Given the description of an element on the screen output the (x, y) to click on. 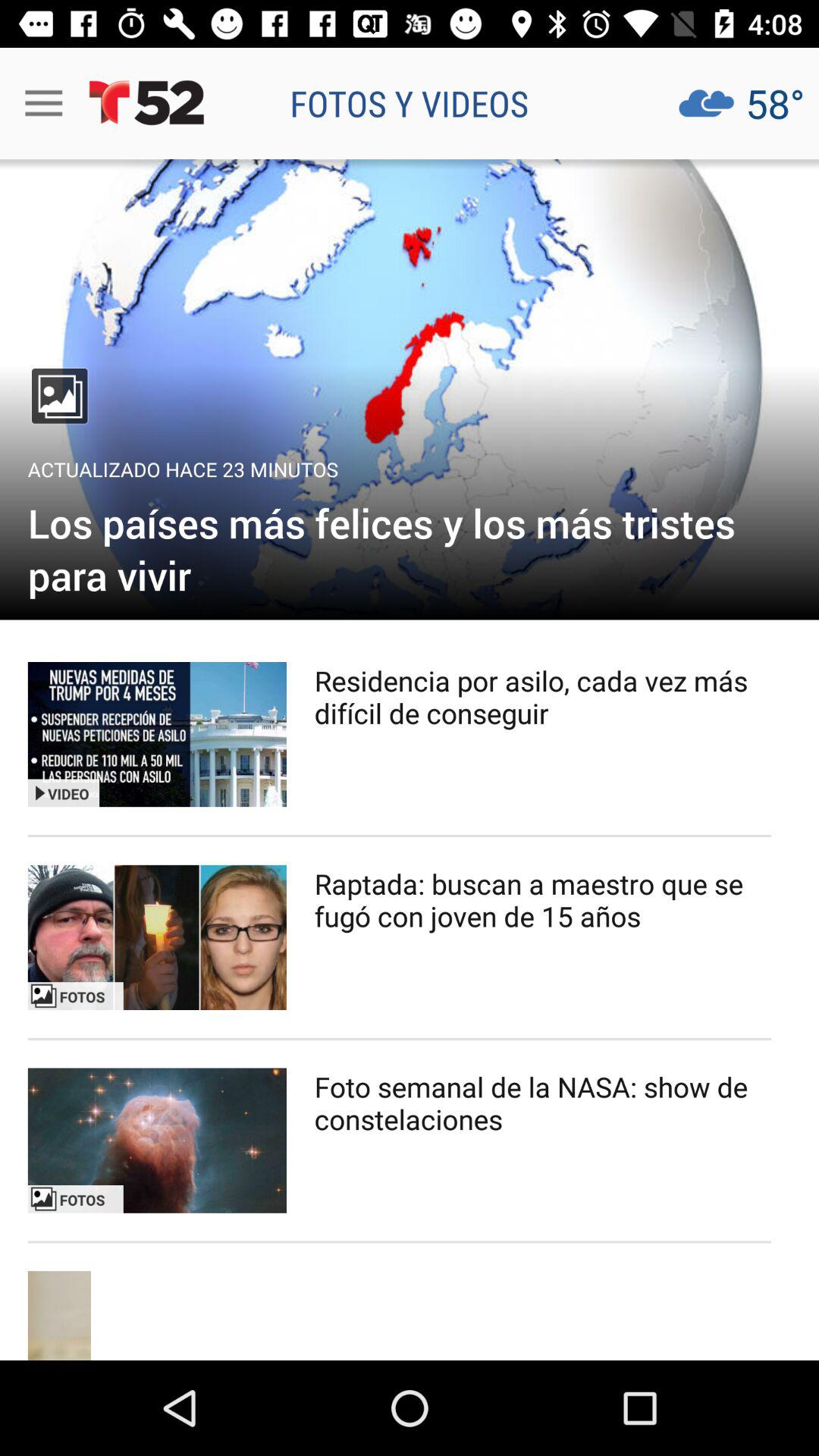
watch video (156, 734)
